Given the description of an element on the screen output the (x, y) to click on. 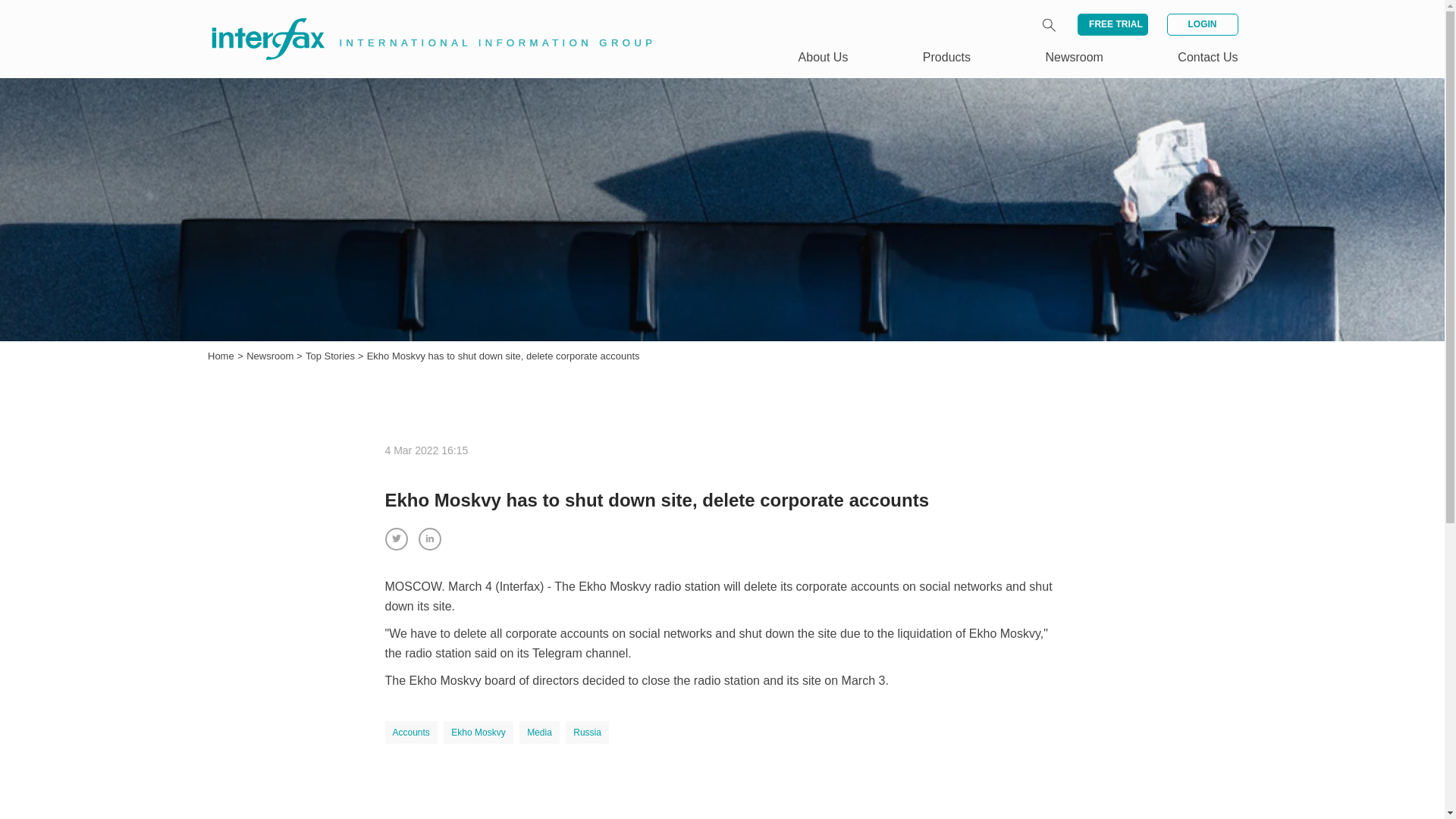
Media (539, 732)
Products (947, 56)
Newsroom (1073, 56)
Home (221, 355)
INTERNATIONAL INFORMATION GROUP (421, 20)
About Us (822, 56)
Newsroom (271, 355)
LOGIN (1201, 24)
Accounts (411, 732)
Newsroom (271, 355)
